Given the description of an element on the screen output the (x, y) to click on. 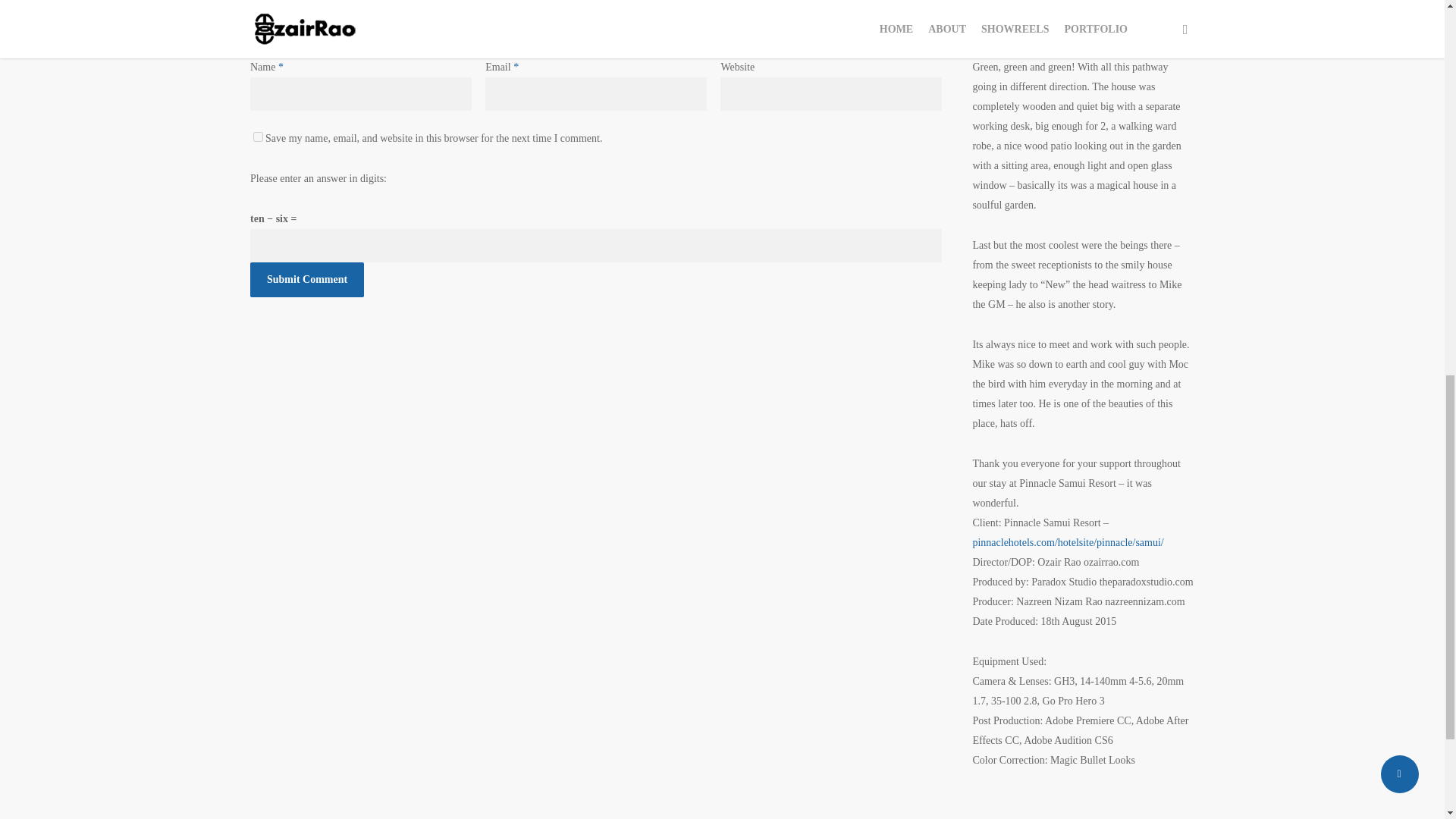
yes (258, 136)
Submit Comment (307, 279)
Submit Comment (307, 279)
